Given the description of an element on the screen output the (x, y) to click on. 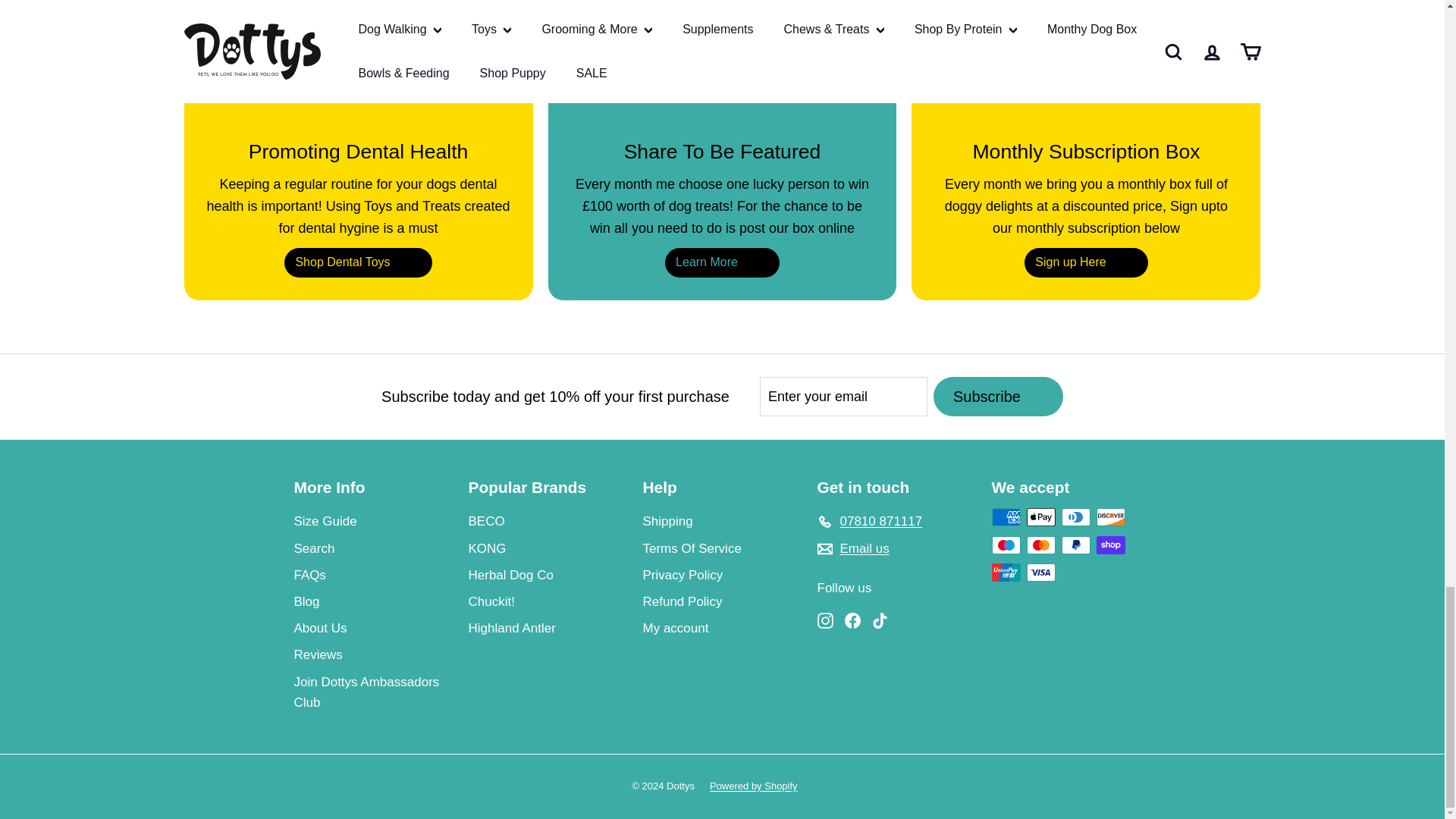
Dottys on Instagram (824, 619)
Dottys on TikTok (880, 619)
Dottys on Facebook (852, 619)
